Given the description of an element on the screen output the (x, y) to click on. 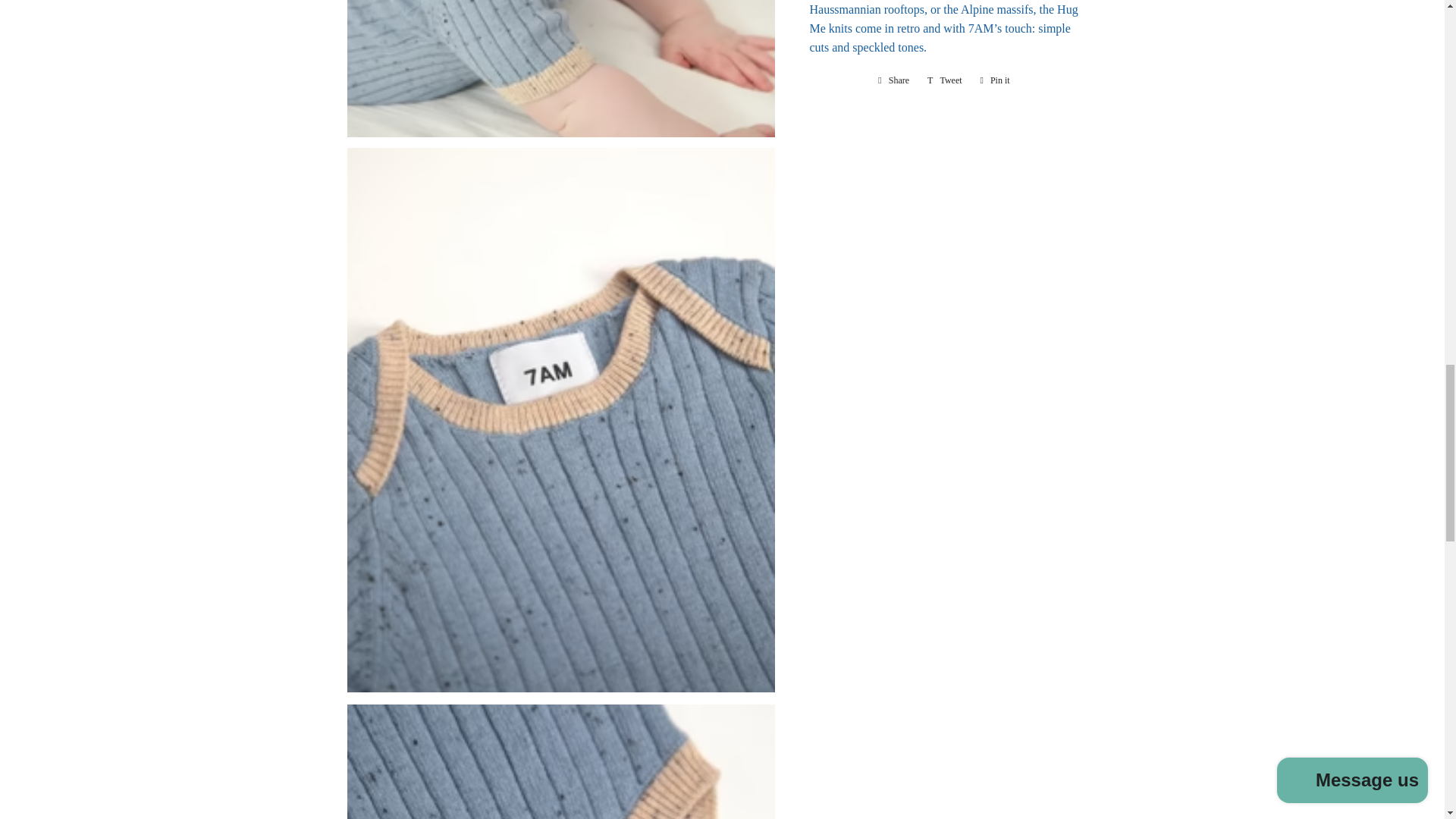
Tweet on Twitter (944, 80)
Pin on Pinterest (994, 80)
Share on Facebook (893, 80)
